Given the description of an element on the screen output the (x, y) to click on. 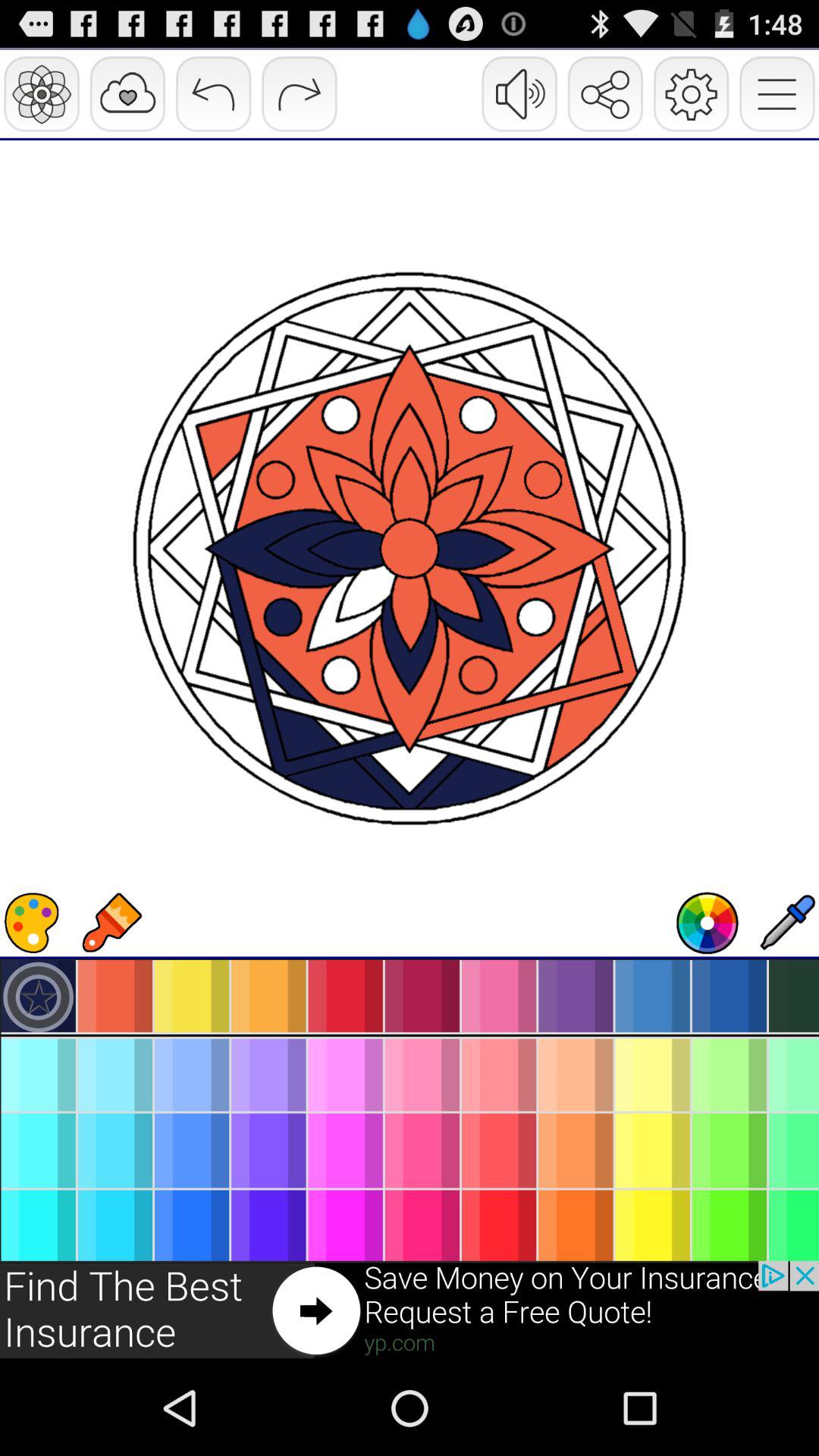
use eyedropper tool (787, 922)
